Given the description of an element on the screen output the (x, y) to click on. 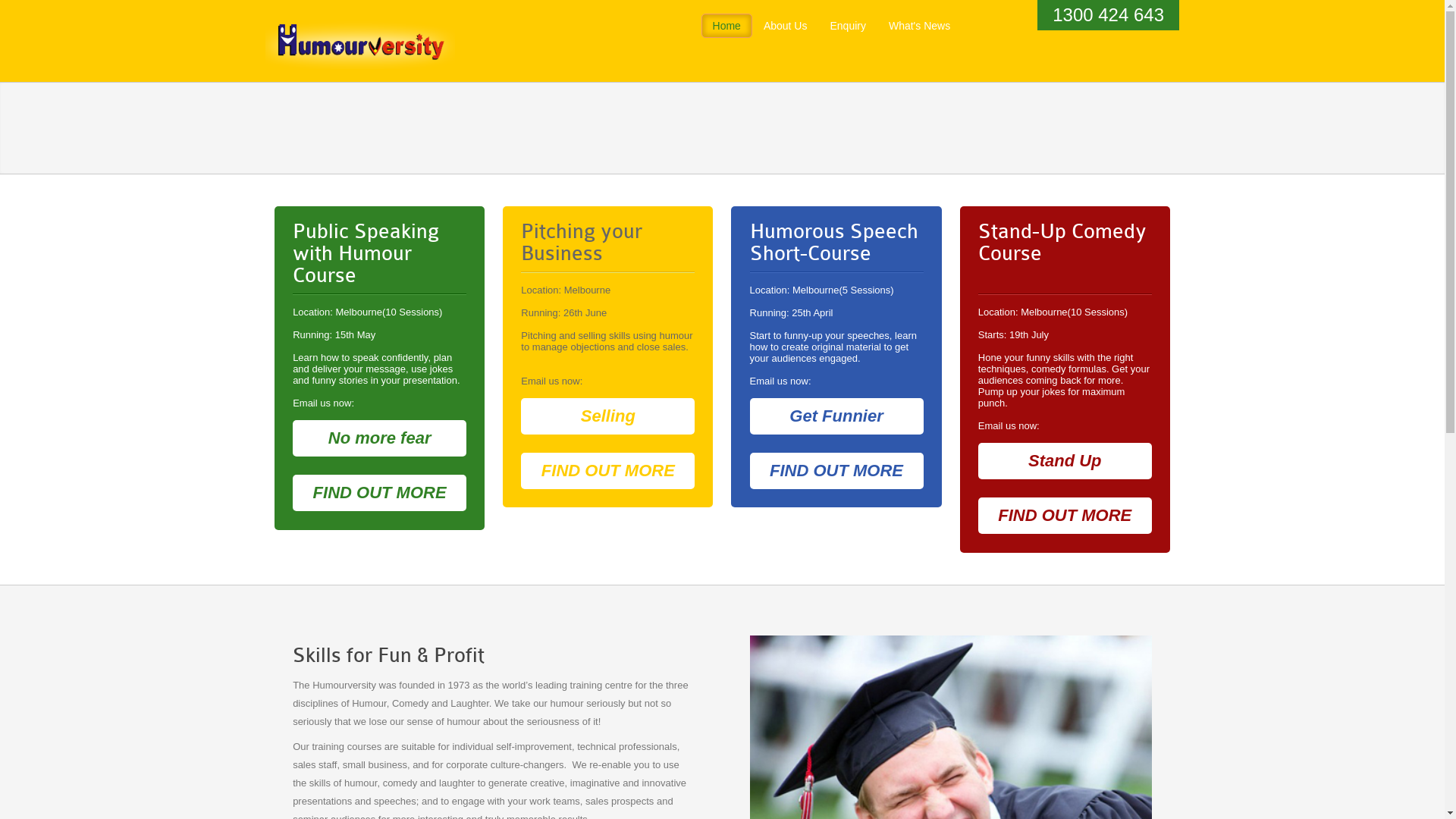
FIND OUT MORE Element type: text (1064, 515)
FIND OUT MORE Element type: text (836, 470)
Selling Element type: text (607, 416)
What's News Element type: text (919, 25)
FIND OUT MORE Element type: text (379, 492)
Home Element type: text (726, 25)
No more fear Element type: text (379, 438)
Get Funnier Element type: text (836, 416)
FIND OUT MORE Element type: text (607, 470)
Stand Up Element type: text (1064, 460)
1300 424 643 Element type: text (1108, 14)
About Us Element type: text (785, 25)
Enquiry Element type: text (847, 25)
